Given the description of an element on the screen output the (x, y) to click on. 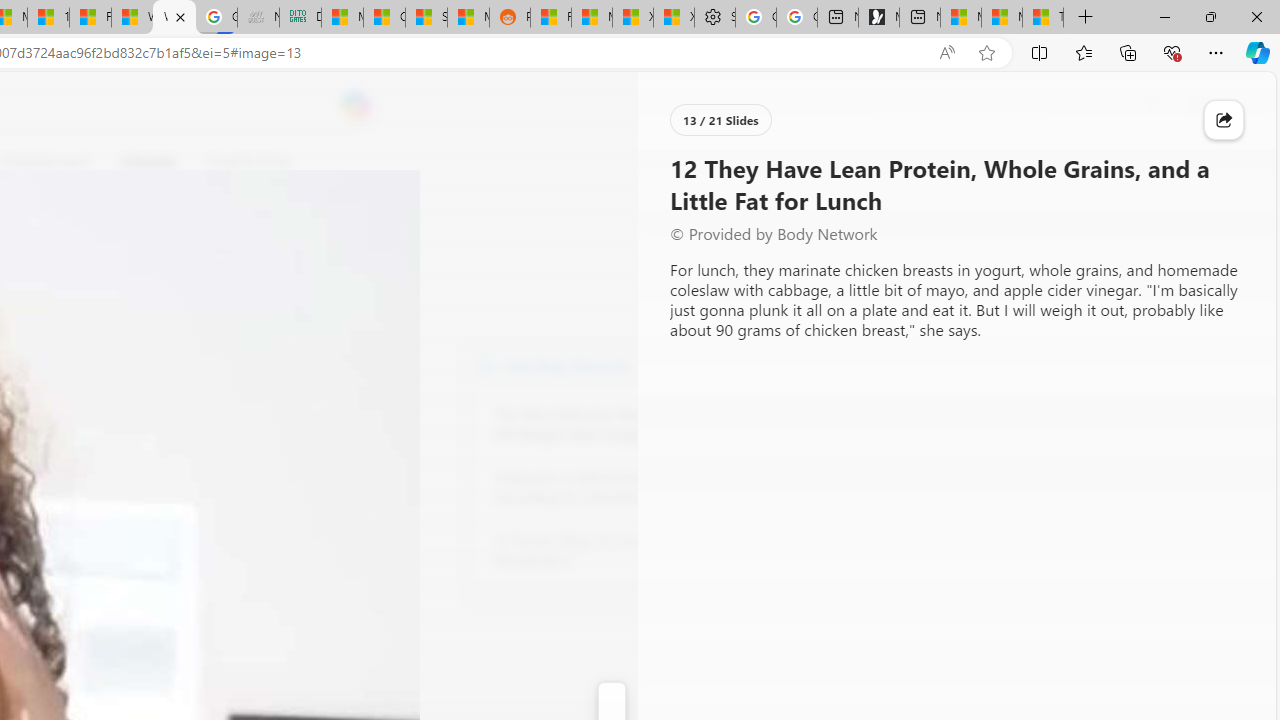
Stocks - MSN (425, 17)
DITOGAMES AG Imprint (300, 17)
MSNBC - MSN (342, 17)
Food & Drink (249, 162)
Fitness - MSN (90, 17)
